Given the description of an element on the screen output the (x, y) to click on. 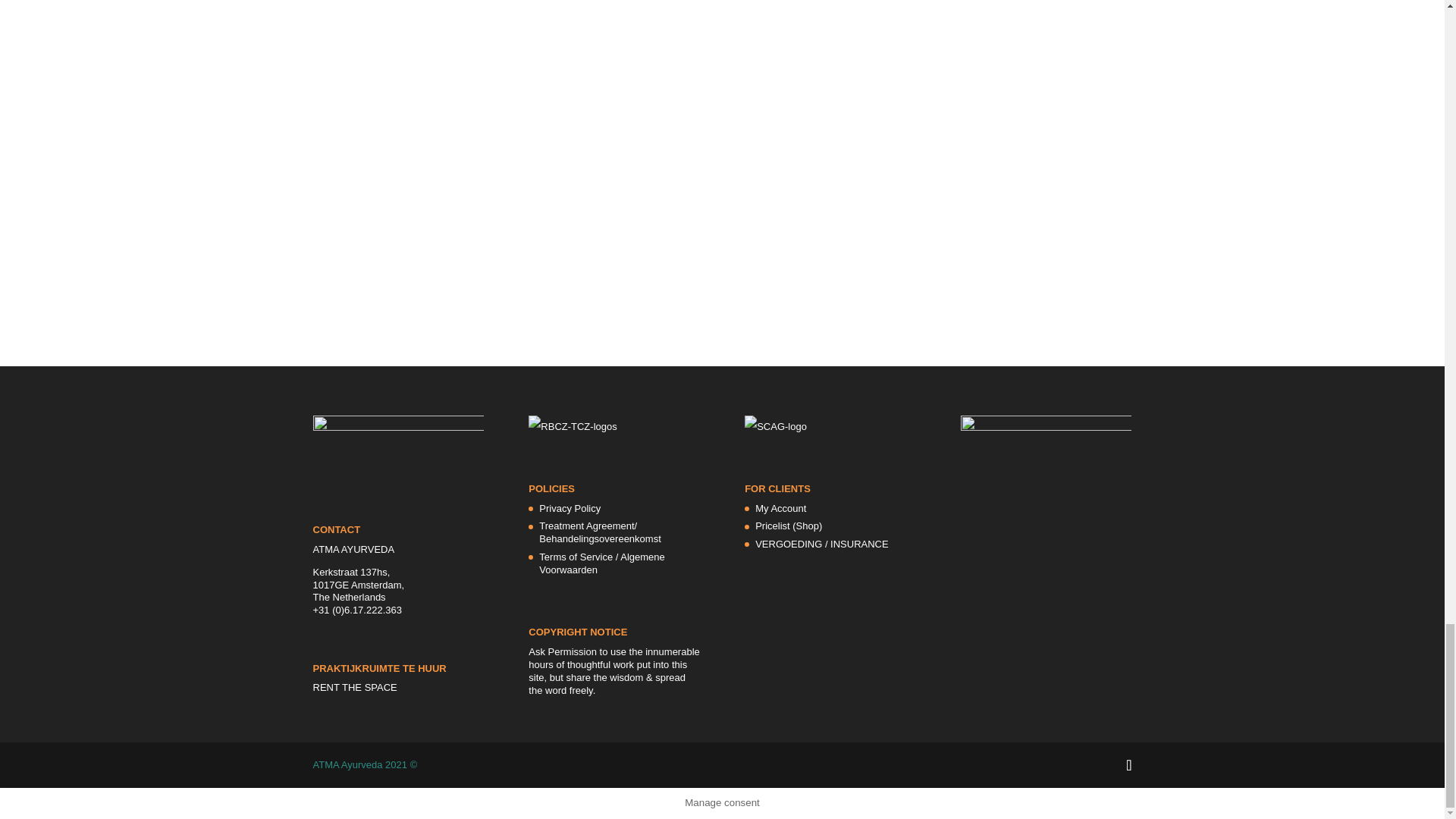
My Account (780, 508)
Privacy Policy (568, 508)
RENT THE SPACE (354, 686)
